Given the description of an element on the screen output the (x, y) to click on. 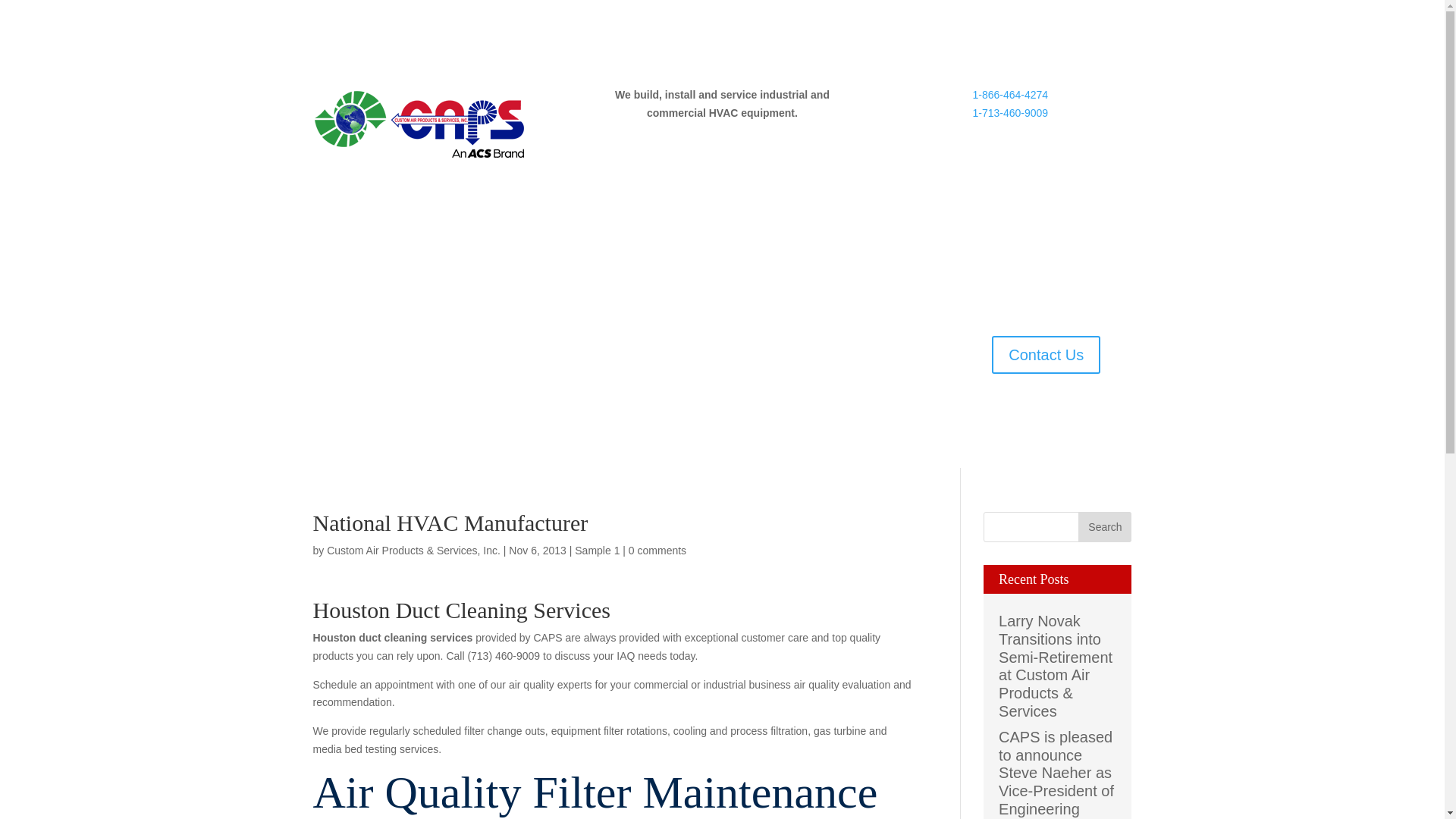
0 comments (656, 550)
Contact Us (613, 372)
1-713-460-9009 (1010, 112)
Search (1104, 526)
Search (1104, 526)
About Us (865, 350)
1-866-464-4274 (1010, 94)
Sample 1 (597, 550)
Contact Us (1045, 354)
